Given the description of an element on the screen output the (x, y) to click on. 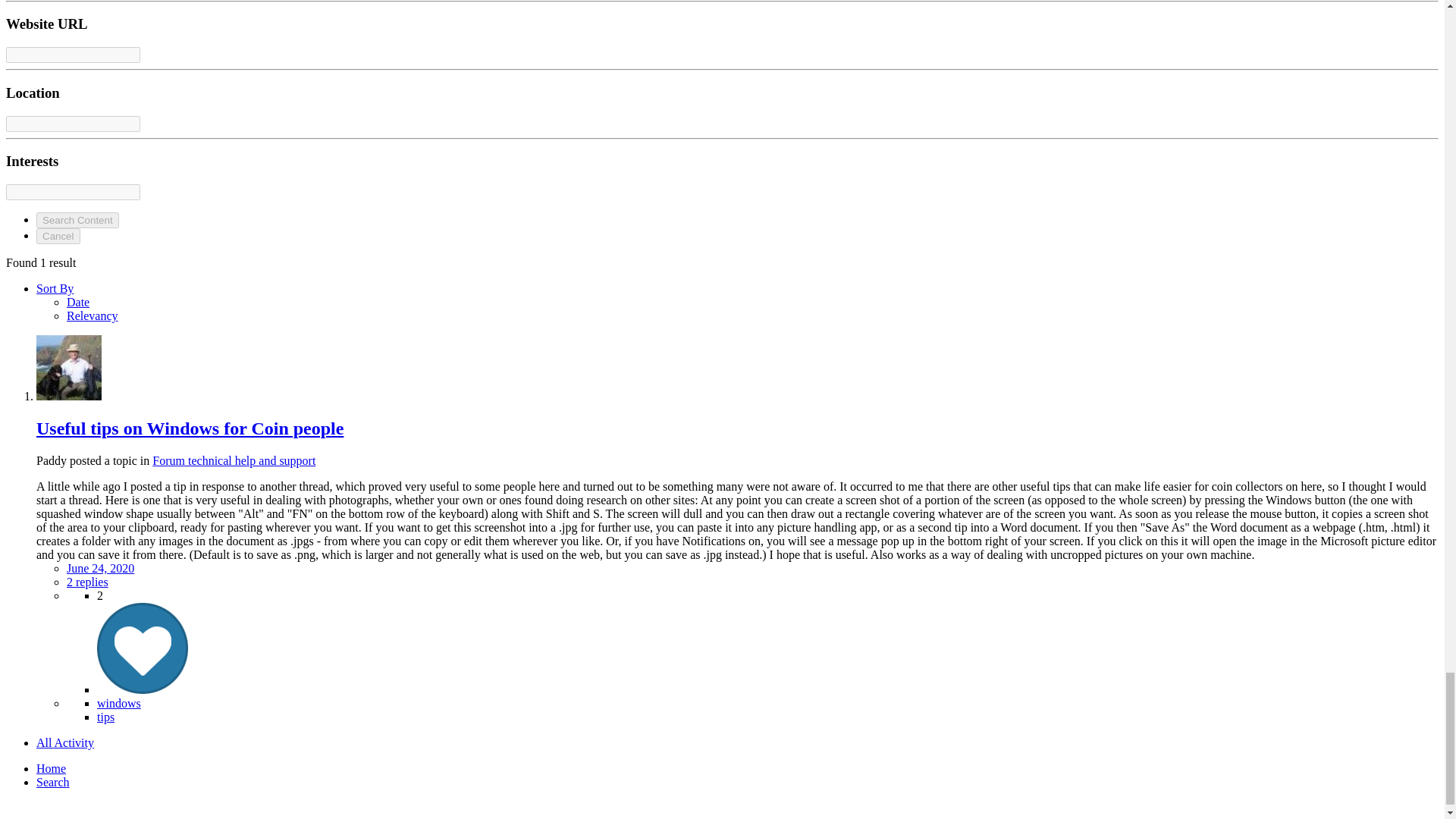
Find other content tagged with 'windows' (119, 703)
Like (142, 689)
Go to Paddy's profile (68, 395)
Find other content tagged with 'tips' (106, 716)
Home (50, 768)
